Given the description of an element on the screen output the (x, y) to click on. 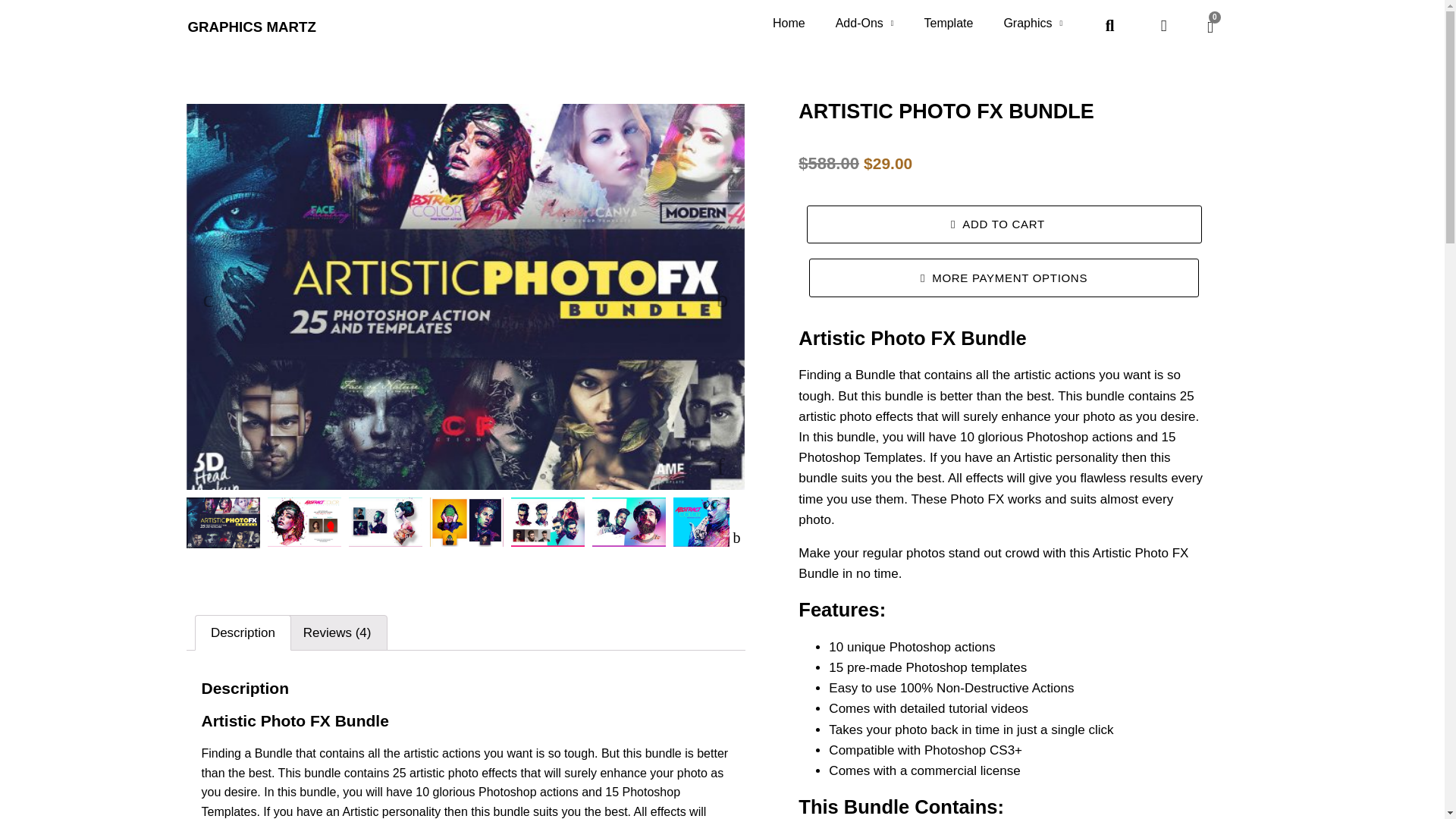
Home (789, 22)
GRAPHICS MARTZ (251, 26)
Add-Ons (864, 22)
Template (948, 22)
Graphics (1032, 22)
